Given the description of an element on the screen output the (x, y) to click on. 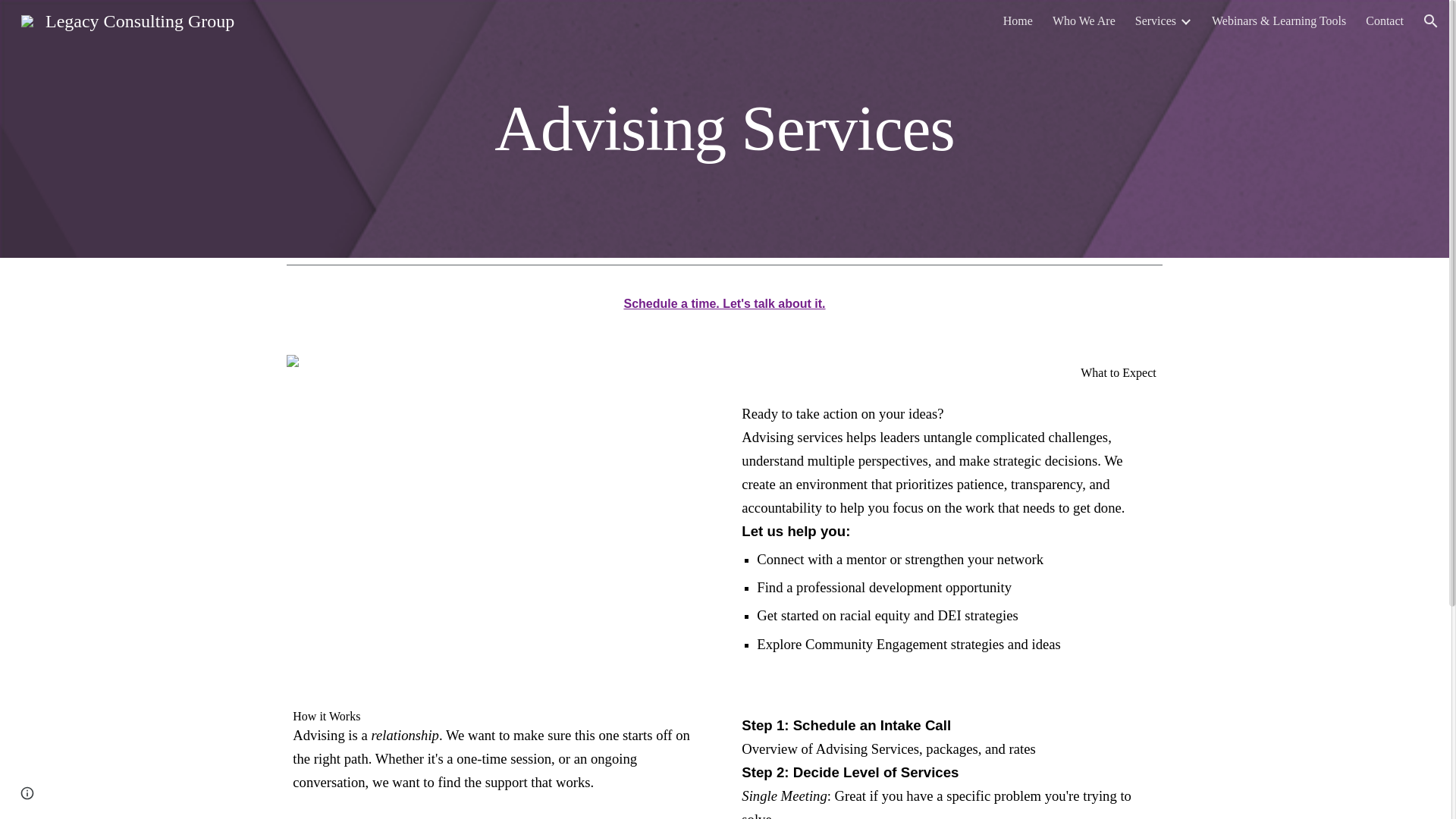
Services (1155, 20)
Contact (1384, 20)
Home (1017, 20)
Legacy Consulting Group (127, 19)
Who We Are (1083, 20)
Schedule a time. Let's talk about it. (724, 303)
